Given the description of an element on the screen output the (x, y) to click on. 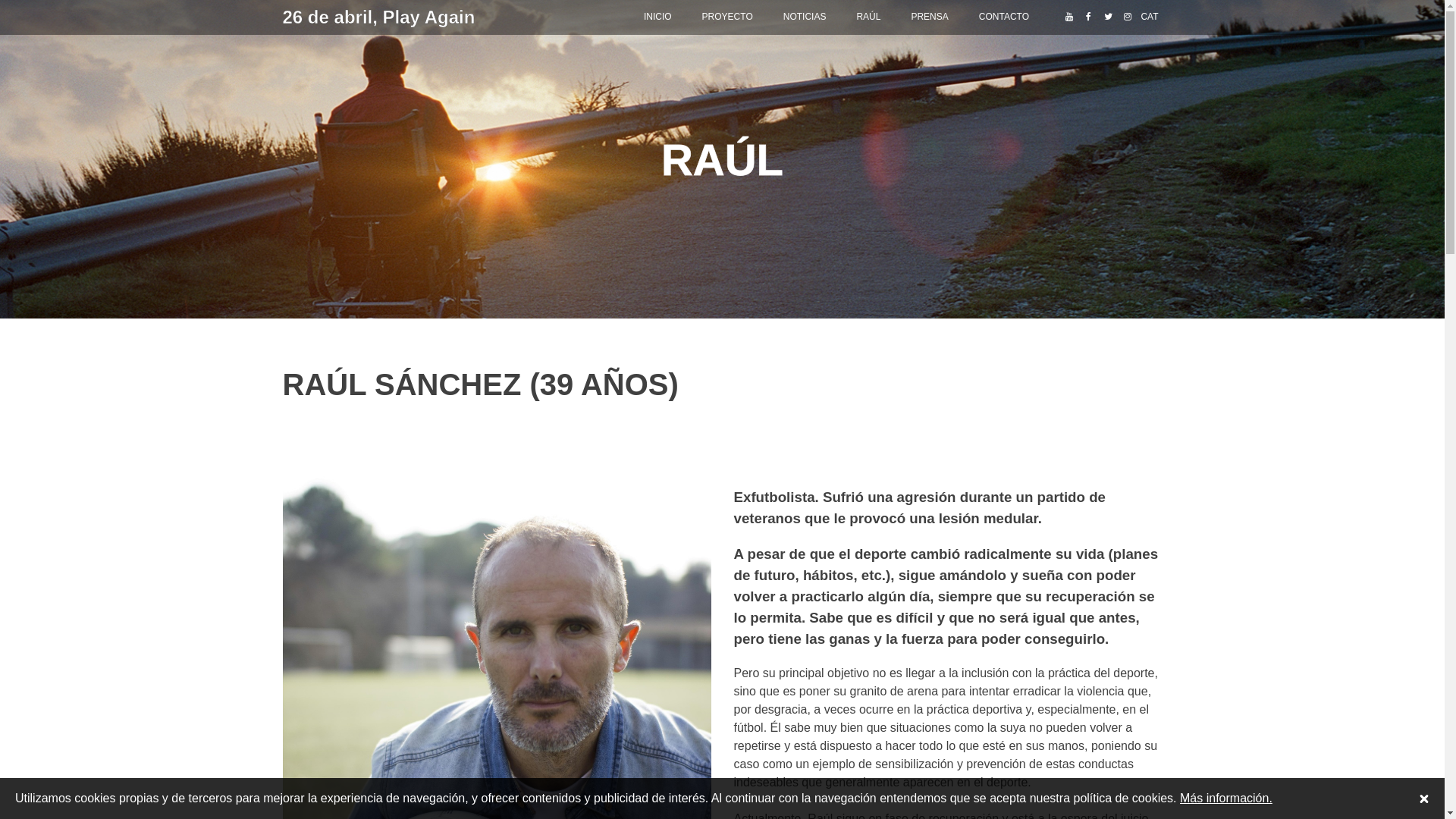
26 de abril, Play Again Element type: text (414, 17)
PRENSA Element type: text (929, 17)
CONTACTO Element type: text (1003, 17)
PROYECTO Element type: text (727, 17)
CAT Element type: text (1148, 17)
INICIO Element type: text (657, 17)
NOTICIAS Element type: text (804, 17)
